Given the description of an element on the screen output the (x, y) to click on. 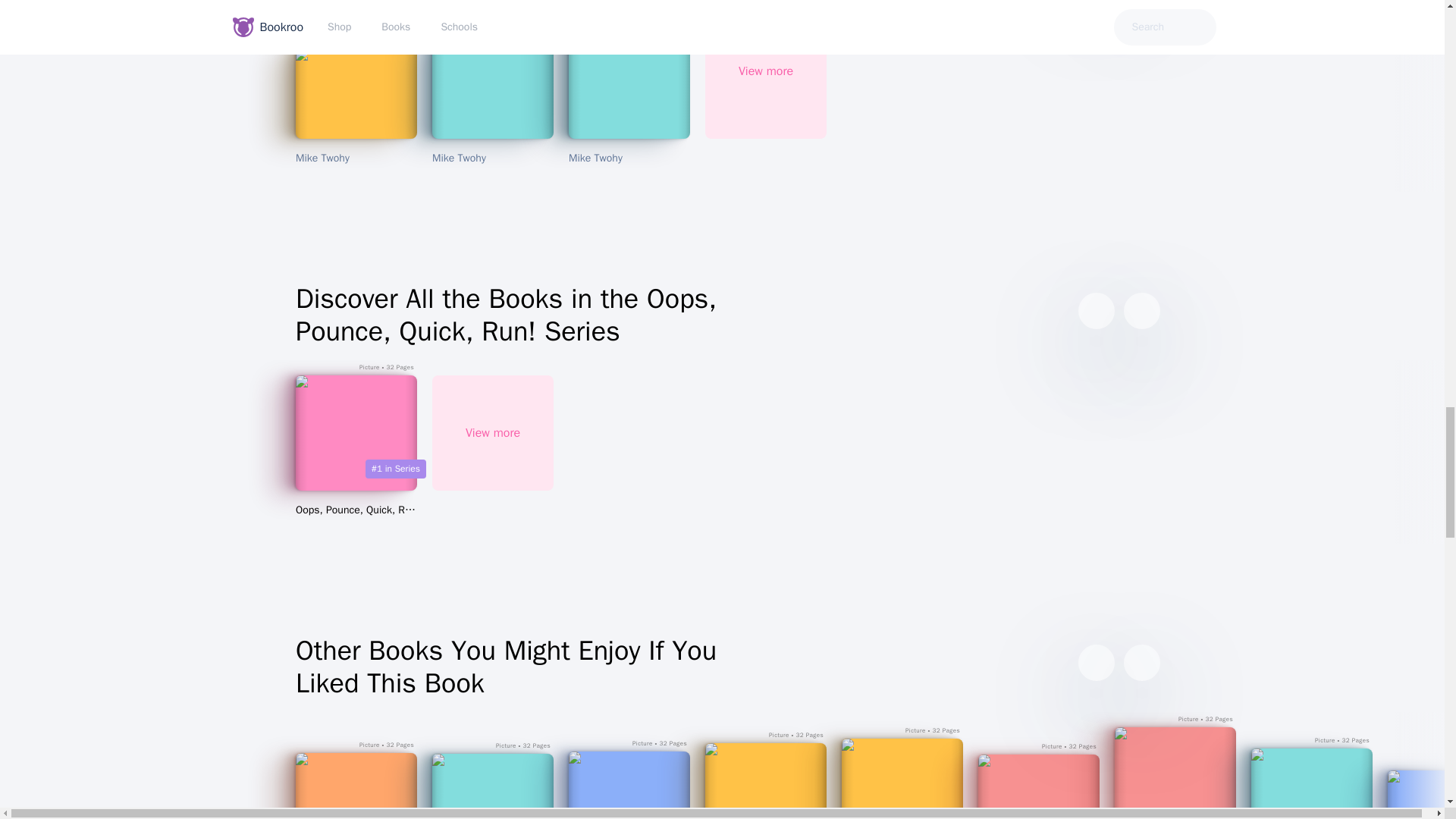
Oops, Pounce, Quick, Run!: An Alphabet Caper (355, 509)
